Given the description of an element on the screen output the (x, y) to click on. 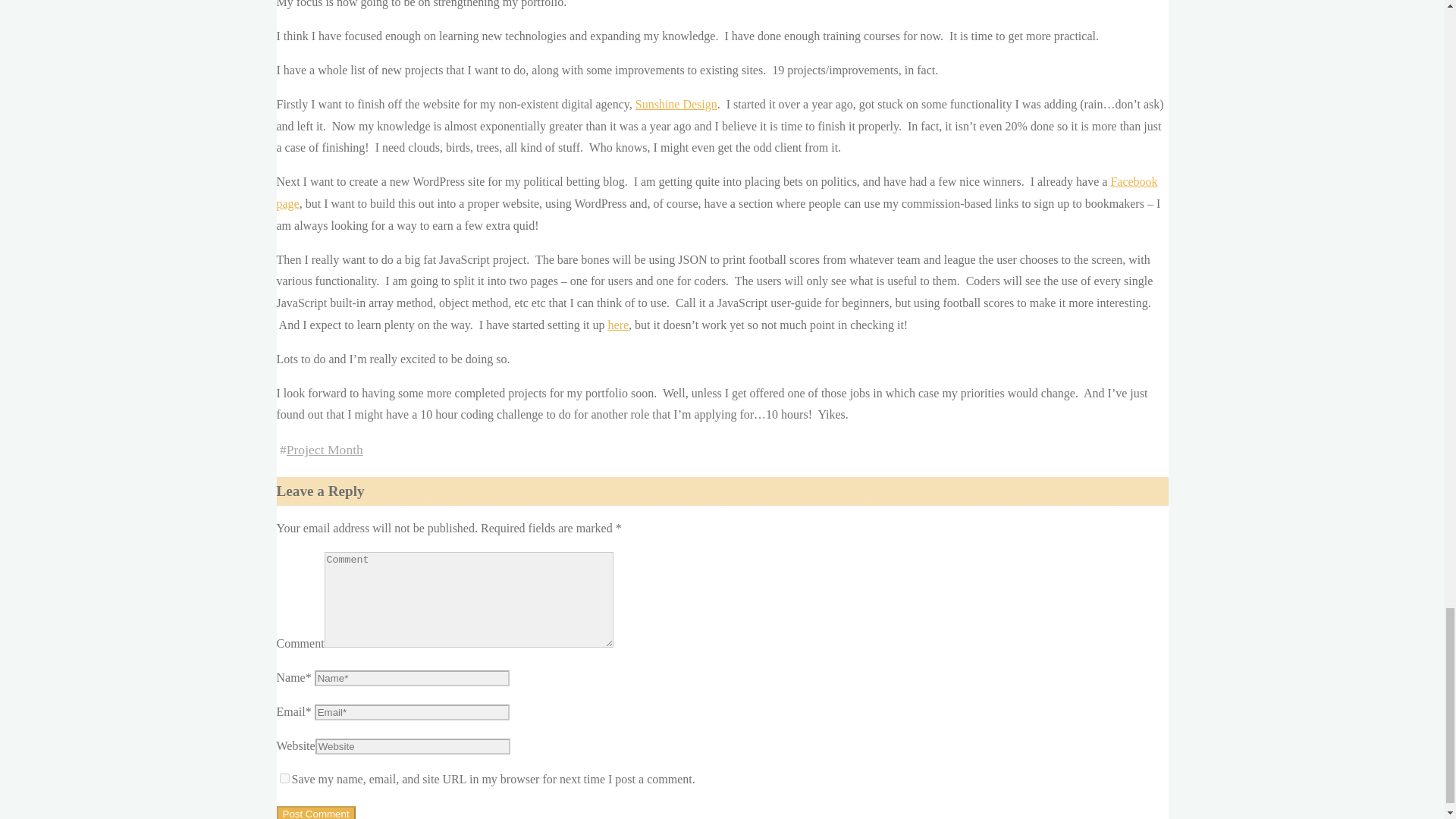
Facebook page (716, 192)
Sunshine Design (675, 103)
yes (283, 777)
here (618, 324)
Project Month (324, 449)
